Given the description of an element on the screen output the (x, y) to click on. 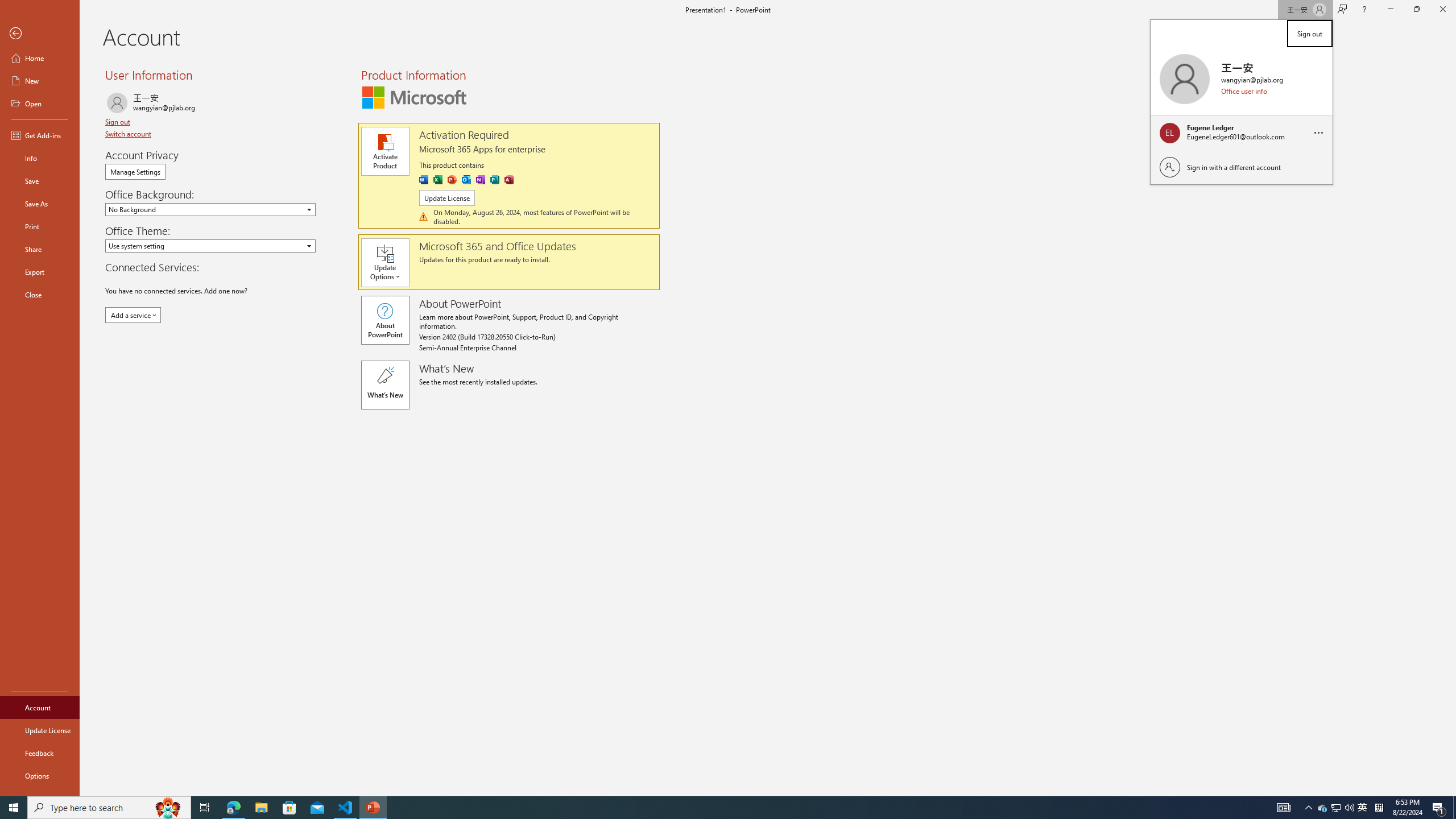
Action Center, 1 new notification (1439, 807)
Publisher (494, 179)
Options (40, 775)
Save As (40, 203)
Switch account (128, 133)
Feedback (40, 753)
PowerPoint (451, 179)
